Given the description of an element on the screen output the (x, y) to click on. 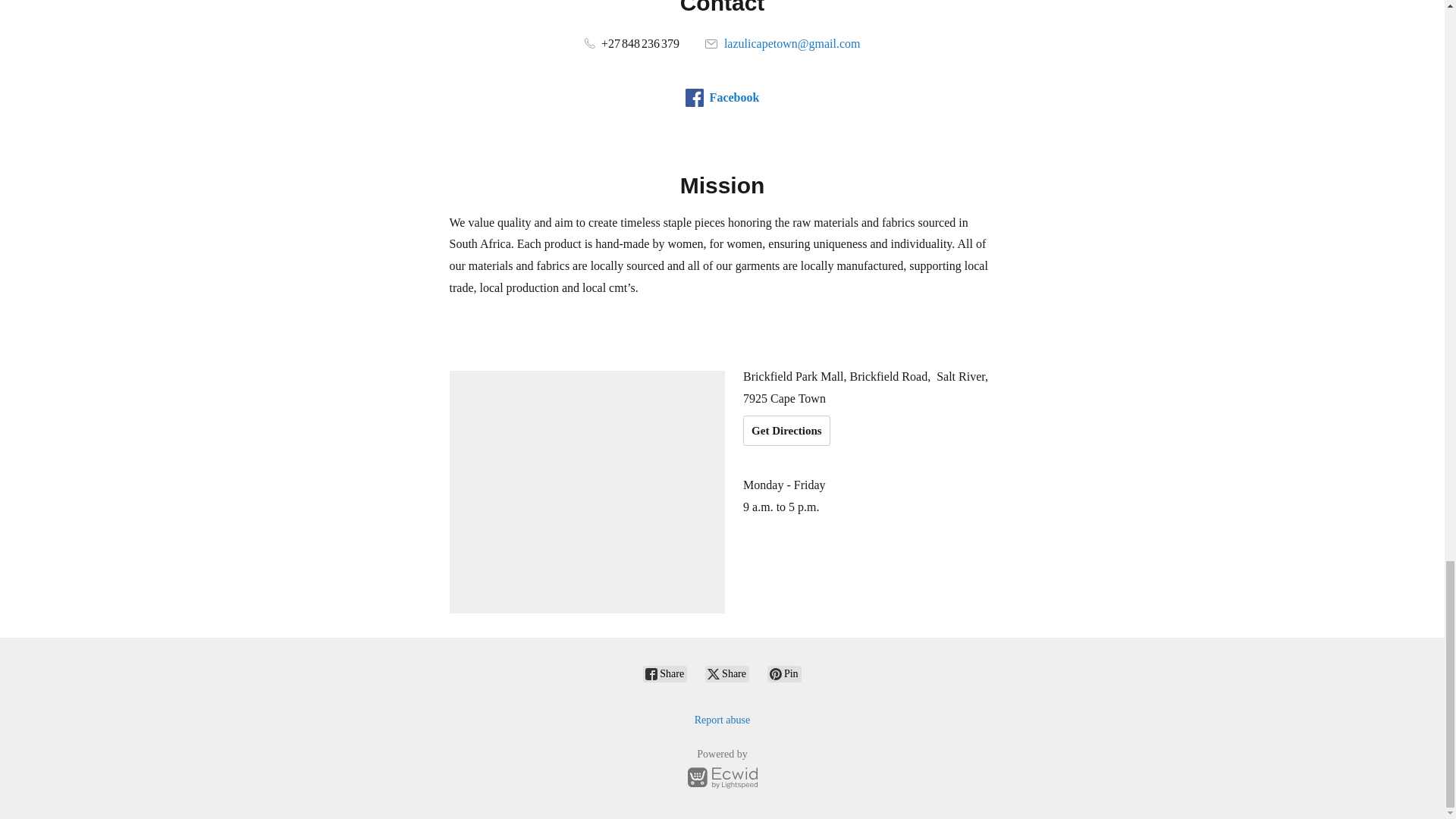
Pin (784, 673)
Get Directions (785, 430)
Location on map (586, 492)
Powered by (722, 770)
Report abuse (721, 719)
Facebook (722, 97)
Share (665, 673)
Share (726, 673)
